Given the description of an element on the screen output the (x, y) to click on. 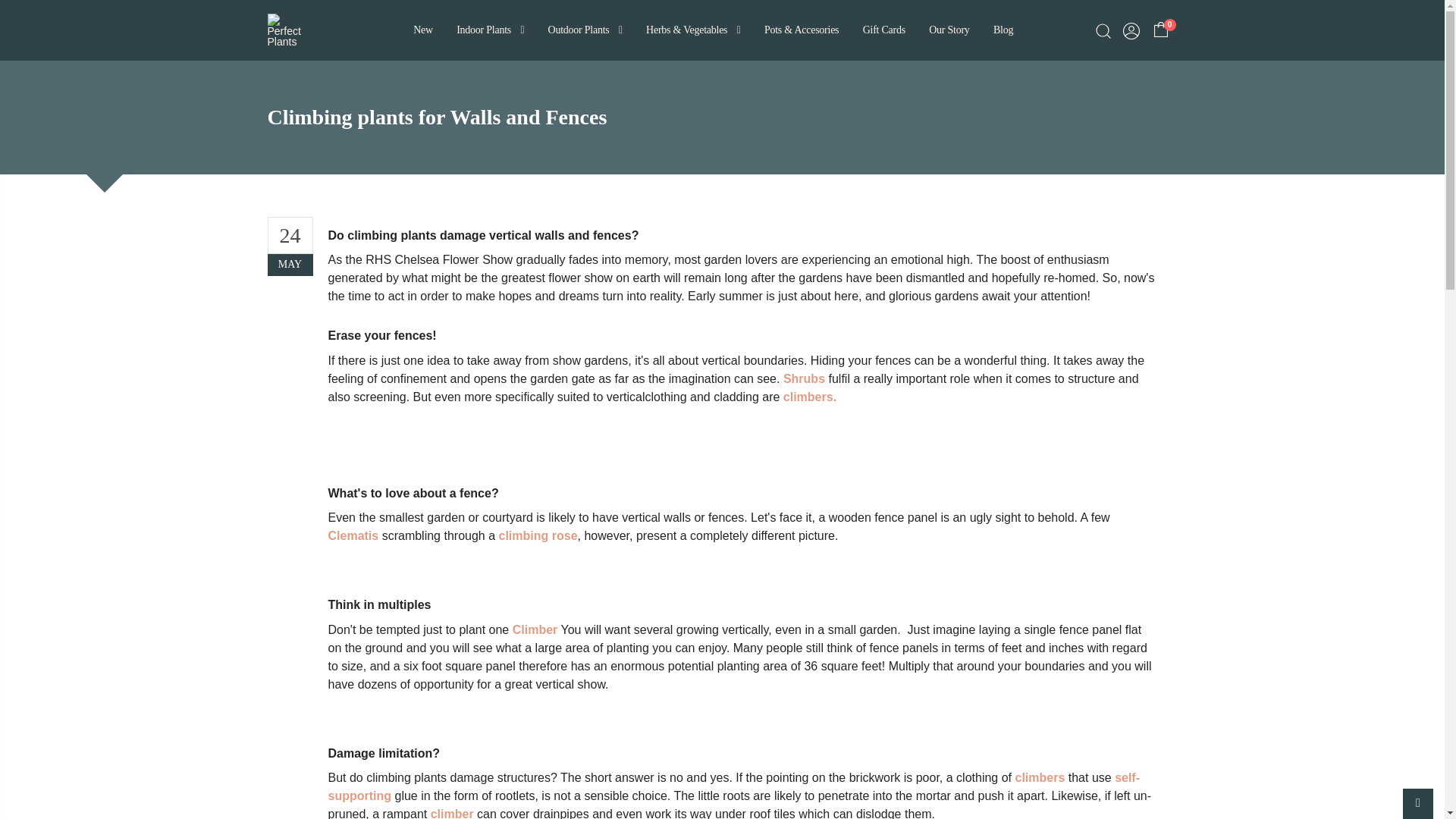
Indoor Plants (489, 30)
Gift Cards (883, 30)
Clematis Climbing Plants for your Fences (352, 535)
Blog (1002, 30)
New (421, 30)
Climbers for sale from Perfect plants (534, 629)
Our Story (947, 30)
Outdoor Plants (584, 30)
Roses for your Garden (538, 535)
Shrubs for the garden (804, 378)
